Given the description of an element on the screen output the (x, y) to click on. 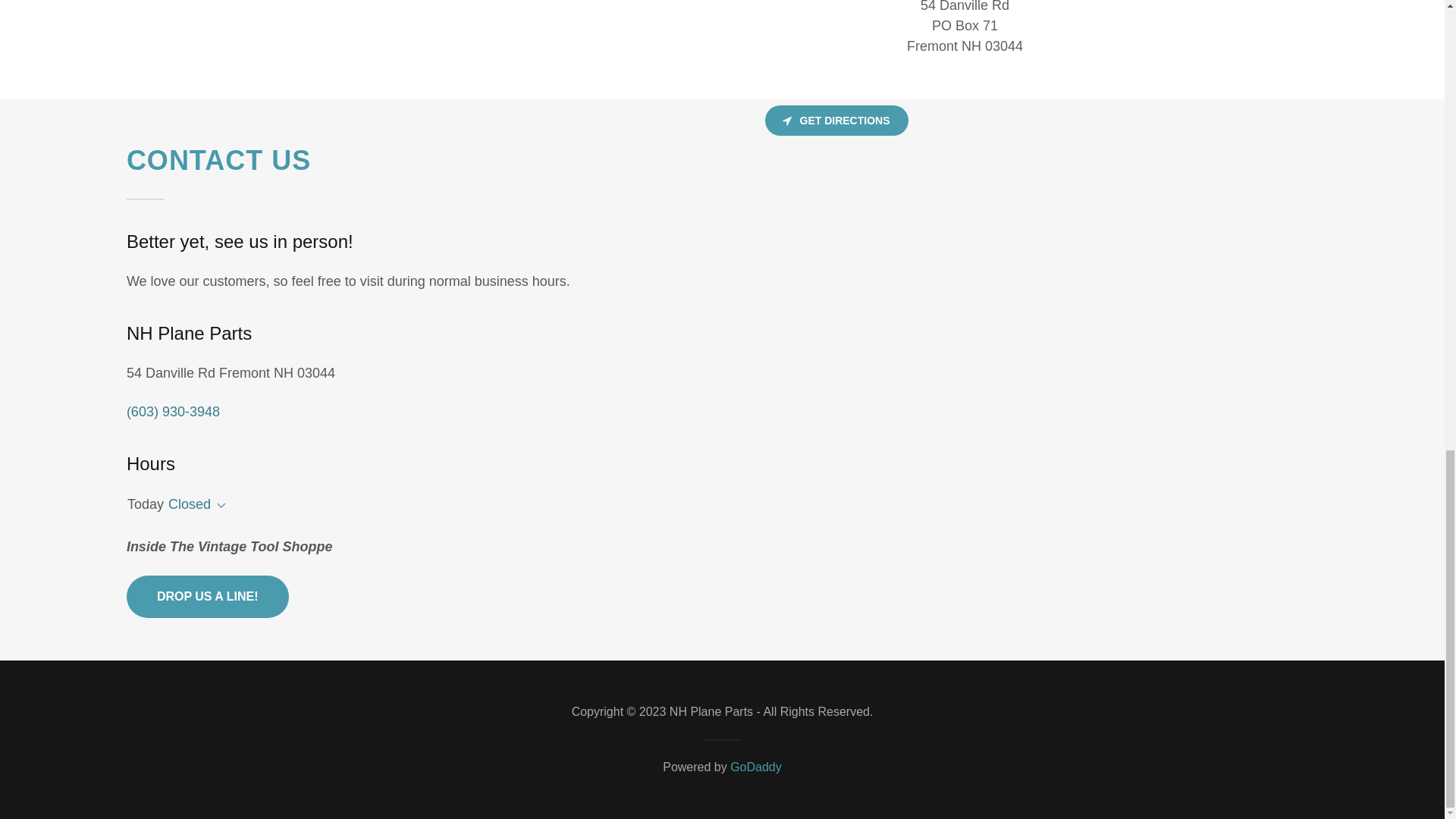
DROP US A LINE! (207, 596)
GET DIRECTIONS (835, 120)
GoDaddy (755, 766)
